Given the description of an element on the screen output the (x, y) to click on. 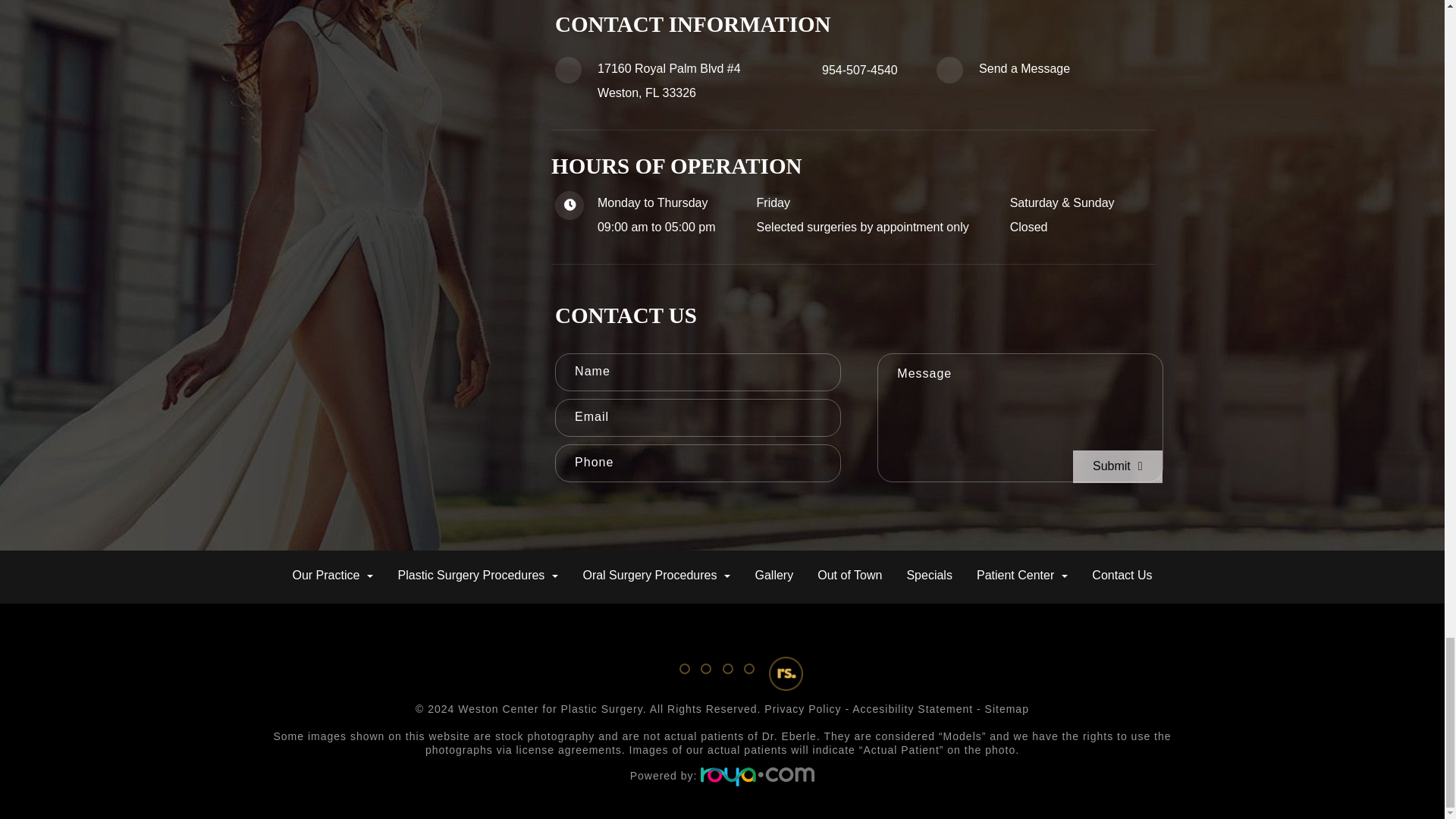
Call: 954-507-4540 (860, 69)
